Given the description of an element on the screen output the (x, y) to click on. 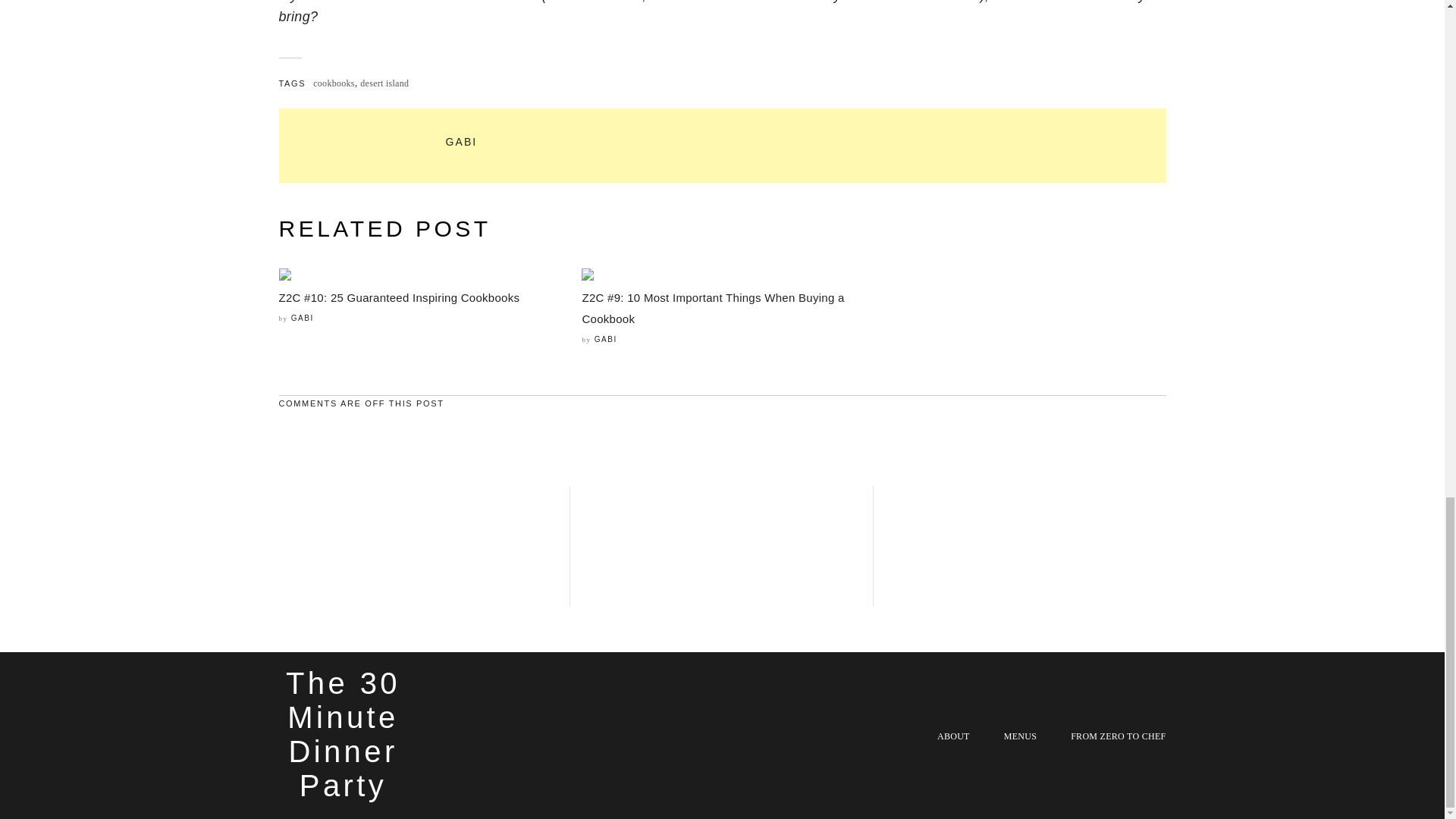
Posts by Gabi (605, 338)
Posts by Gabi (461, 141)
Posts by Gabi (302, 317)
